Given the description of an element on the screen output the (x, y) to click on. 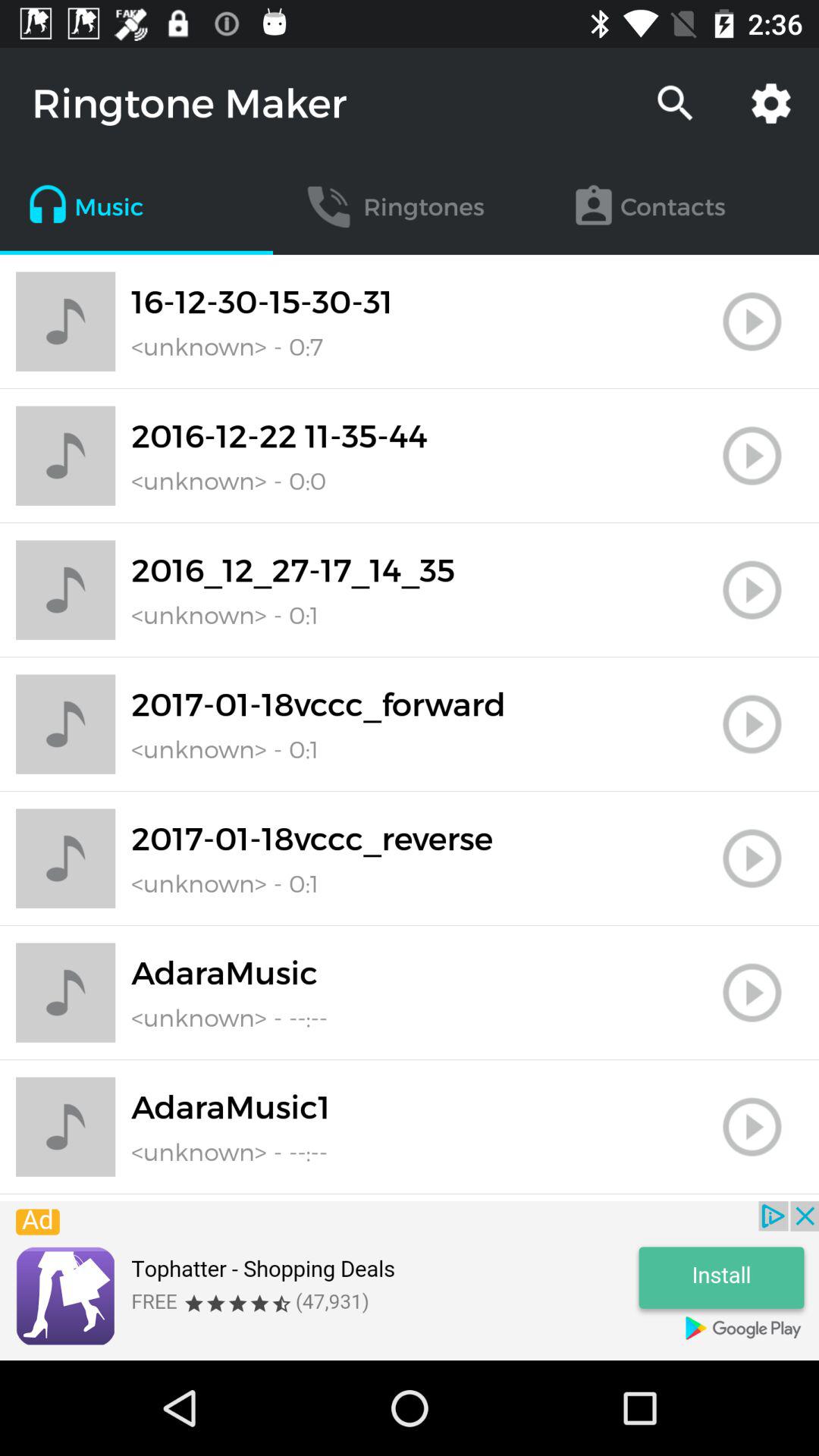
toggle play song (752, 724)
